Given the description of an element on the screen output the (x, y) to click on. 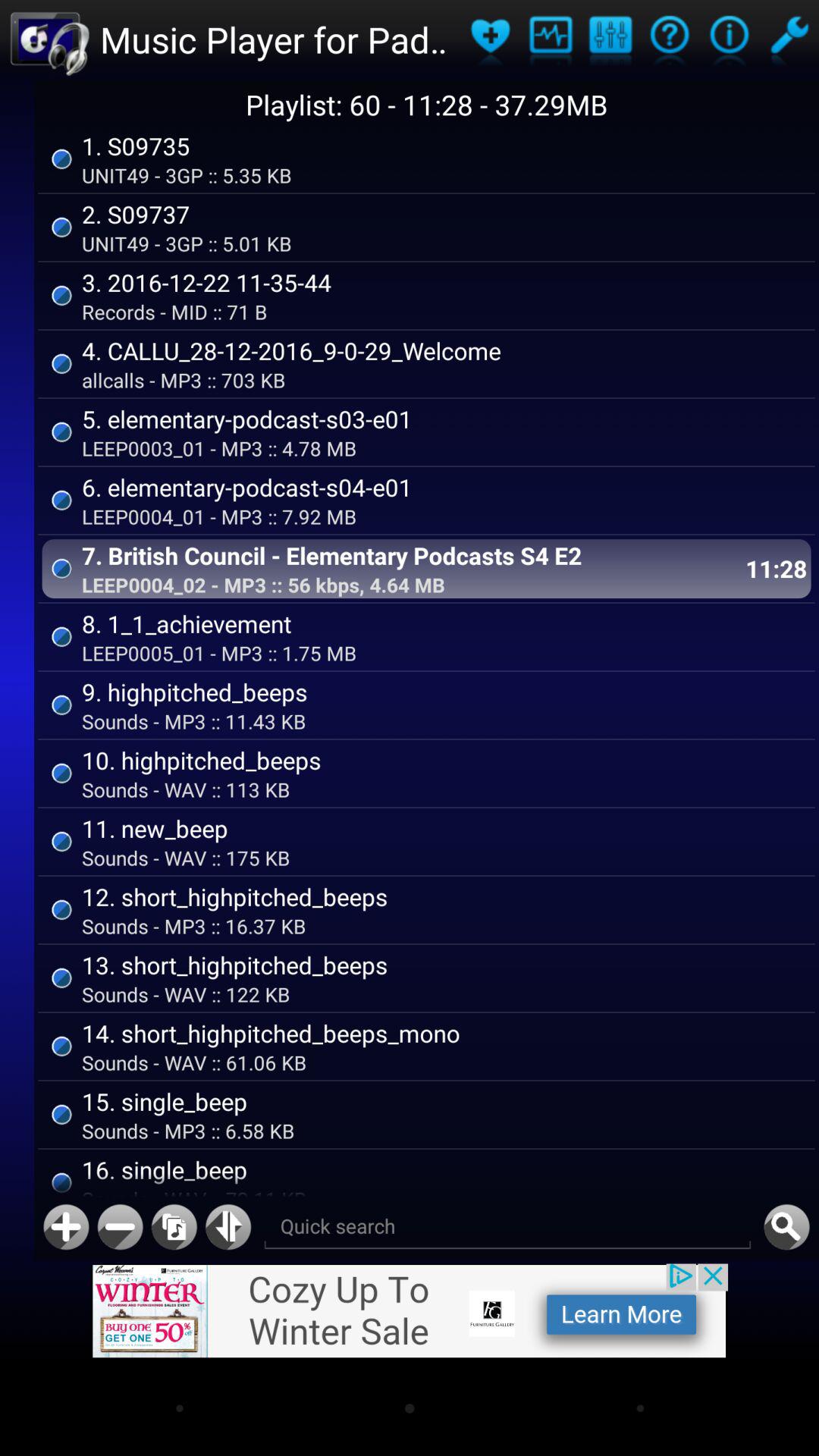
open information (669, 39)
